Given the description of an element on the screen output the (x, y) to click on. 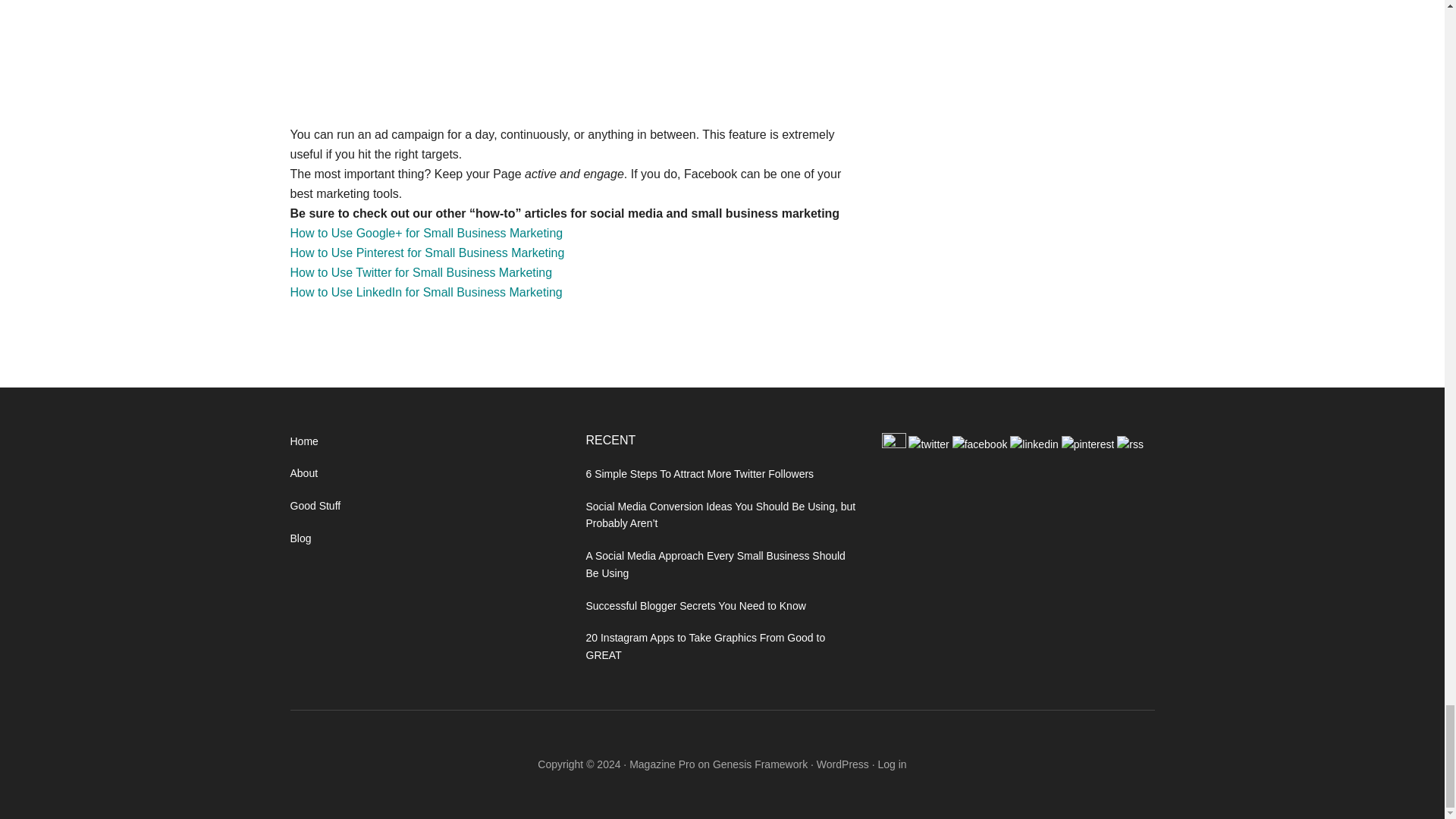
linkedin (1035, 444)
rss (1129, 444)
twitter (930, 444)
facebook (981, 444)
pinterest (1089, 444)
How to Use Pinterest for Small Business Marketing (426, 252)
